Given the description of an element on the screen output the (x, y) to click on. 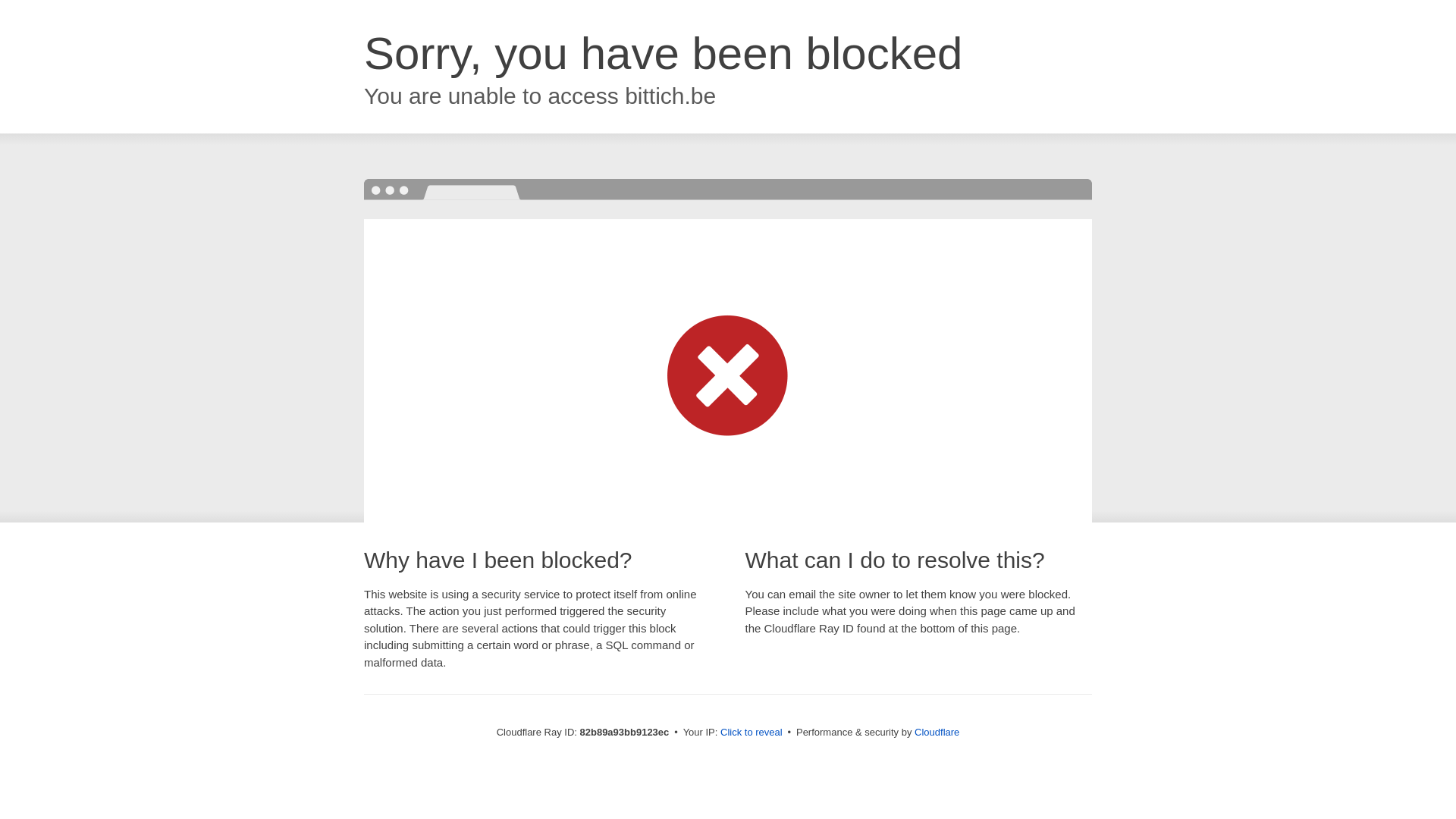
Click to reveal Element type: text (751, 732)
Cloudflare Element type: text (936, 731)
